Given the description of an element on the screen output the (x, y) to click on. 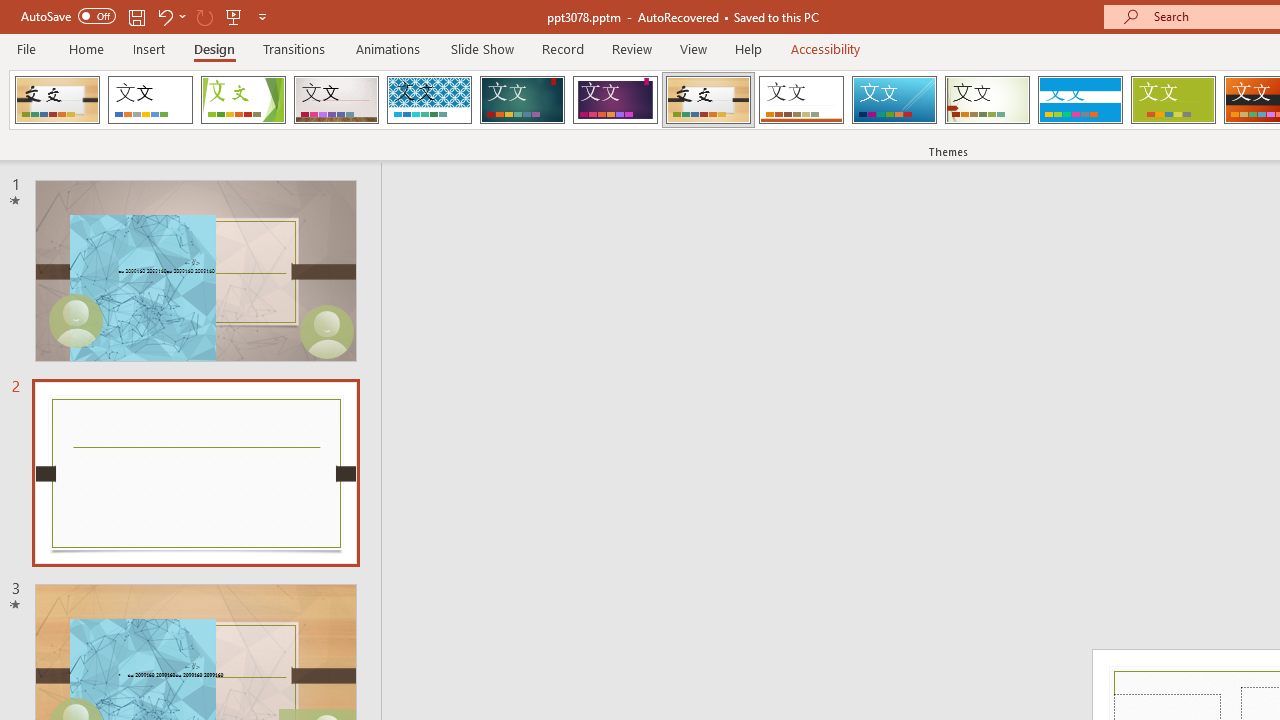
Basis (1172, 100)
Facet (243, 100)
Organic (708, 100)
Retrospect (801, 100)
